Given the description of an element on the screen output the (x, y) to click on. 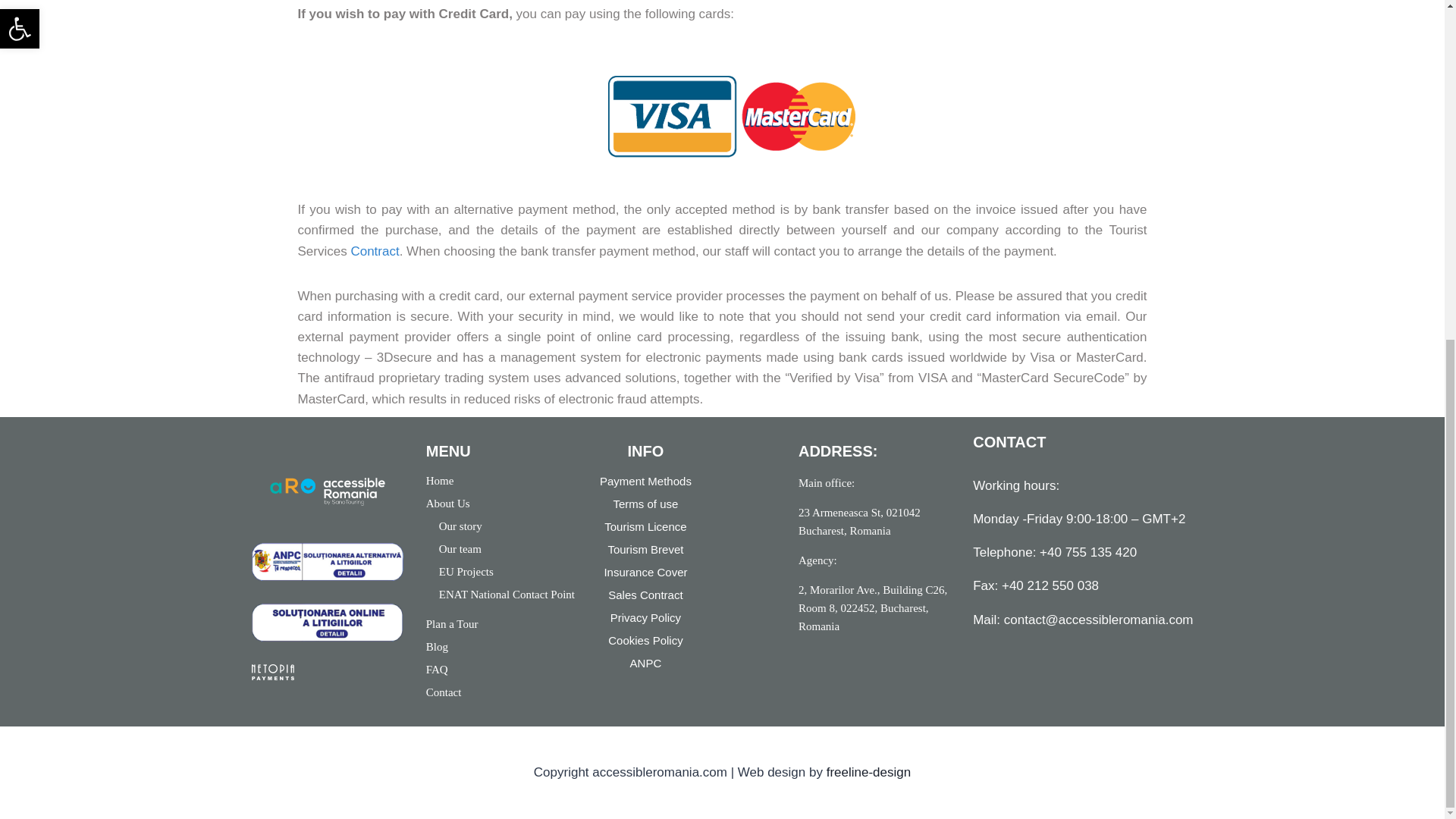
About Us (502, 504)
Contract (374, 250)
Home (502, 481)
